Given the description of an element on the screen output the (x, y) to click on. 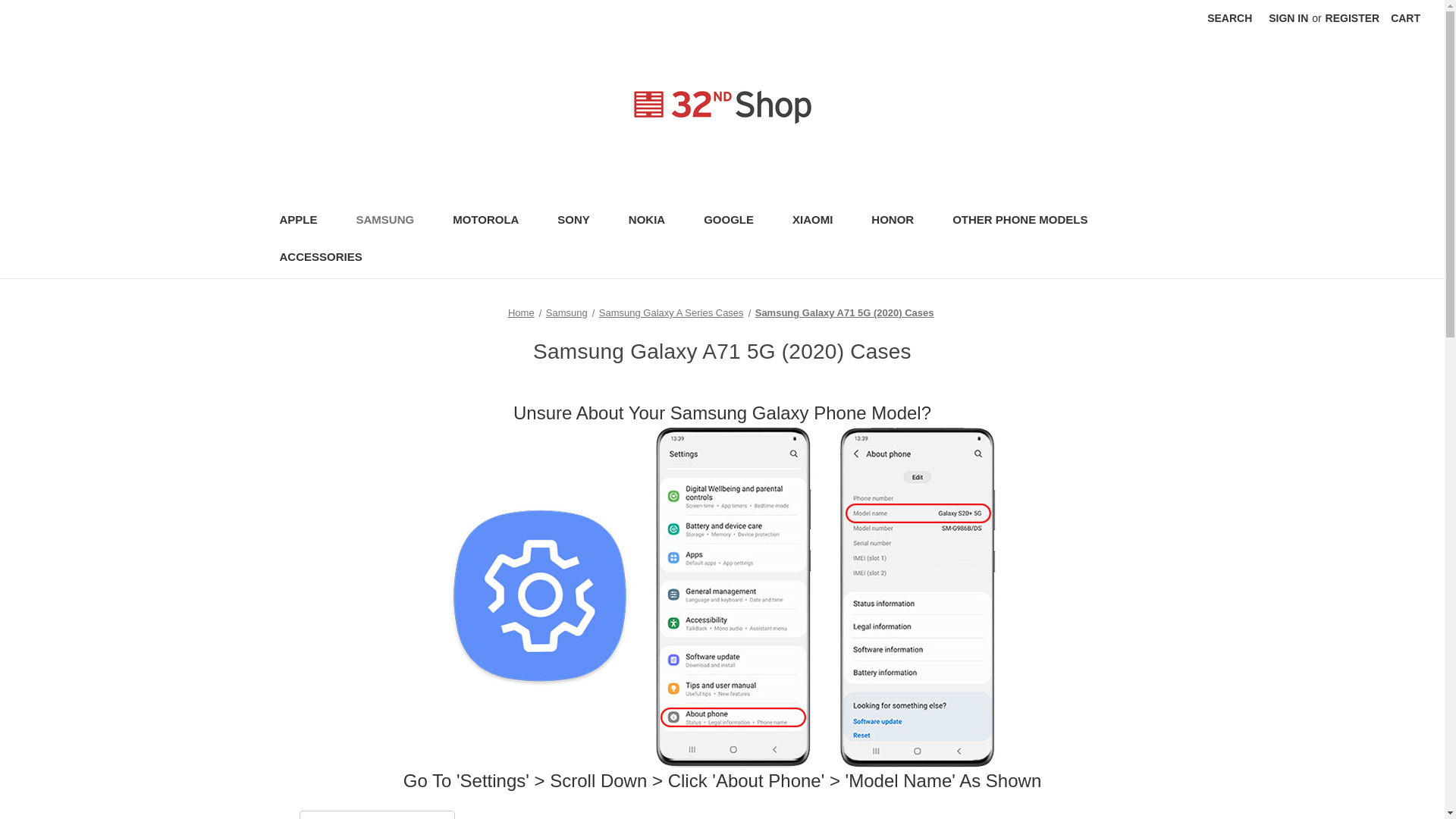
32ndShop (721, 107)
APPLE (304, 221)
REGISTER (1353, 18)
SEARCH (1229, 18)
SIGN IN (1288, 18)
CART (1404, 18)
